Given the description of an element on the screen output the (x, y) to click on. 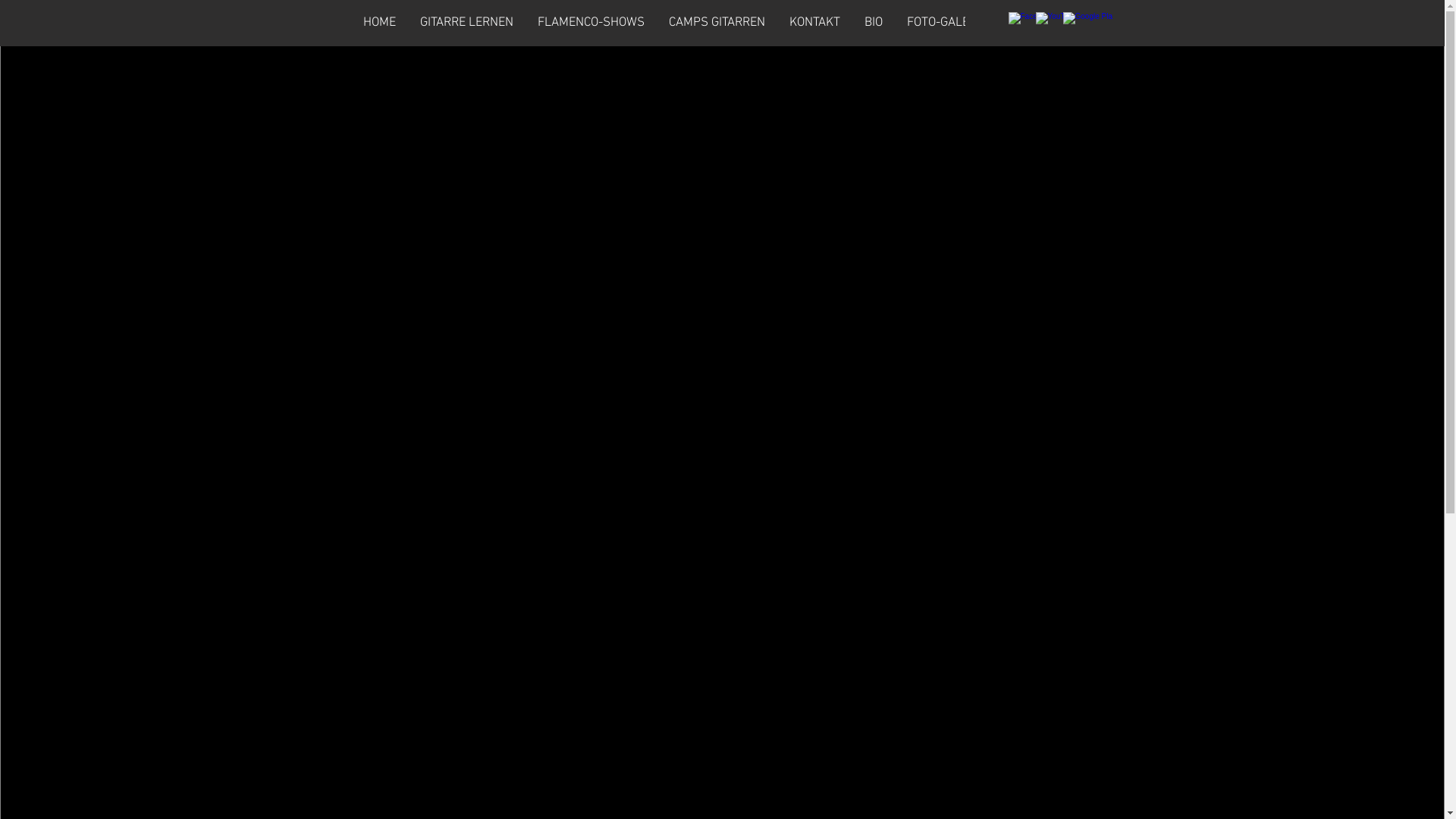
GITARRE LERNEN Element type: text (466, 24)
CAMPS GITARREN Element type: text (716, 24)
FOTO-GALERIE Element type: text (946, 24)
KONTAKT Element type: text (813, 24)
BIO Element type: text (873, 24)
HOME Element type: text (378, 24)
